Given the description of an element on the screen output the (x, y) to click on. 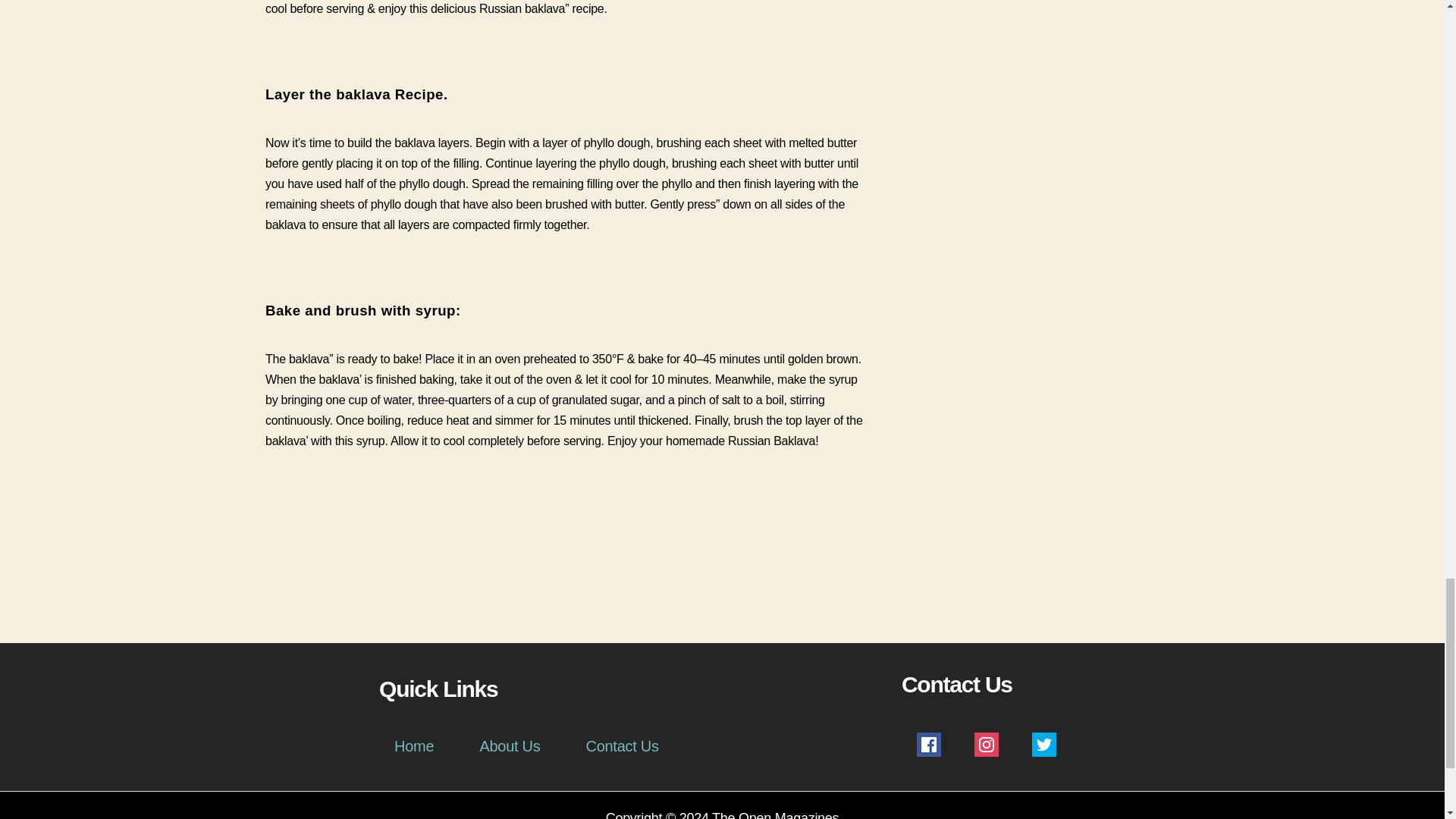
Home (413, 745)
About Us (509, 745)
Contact Us (621, 745)
